Given the description of an element on the screen output the (x, y) to click on. 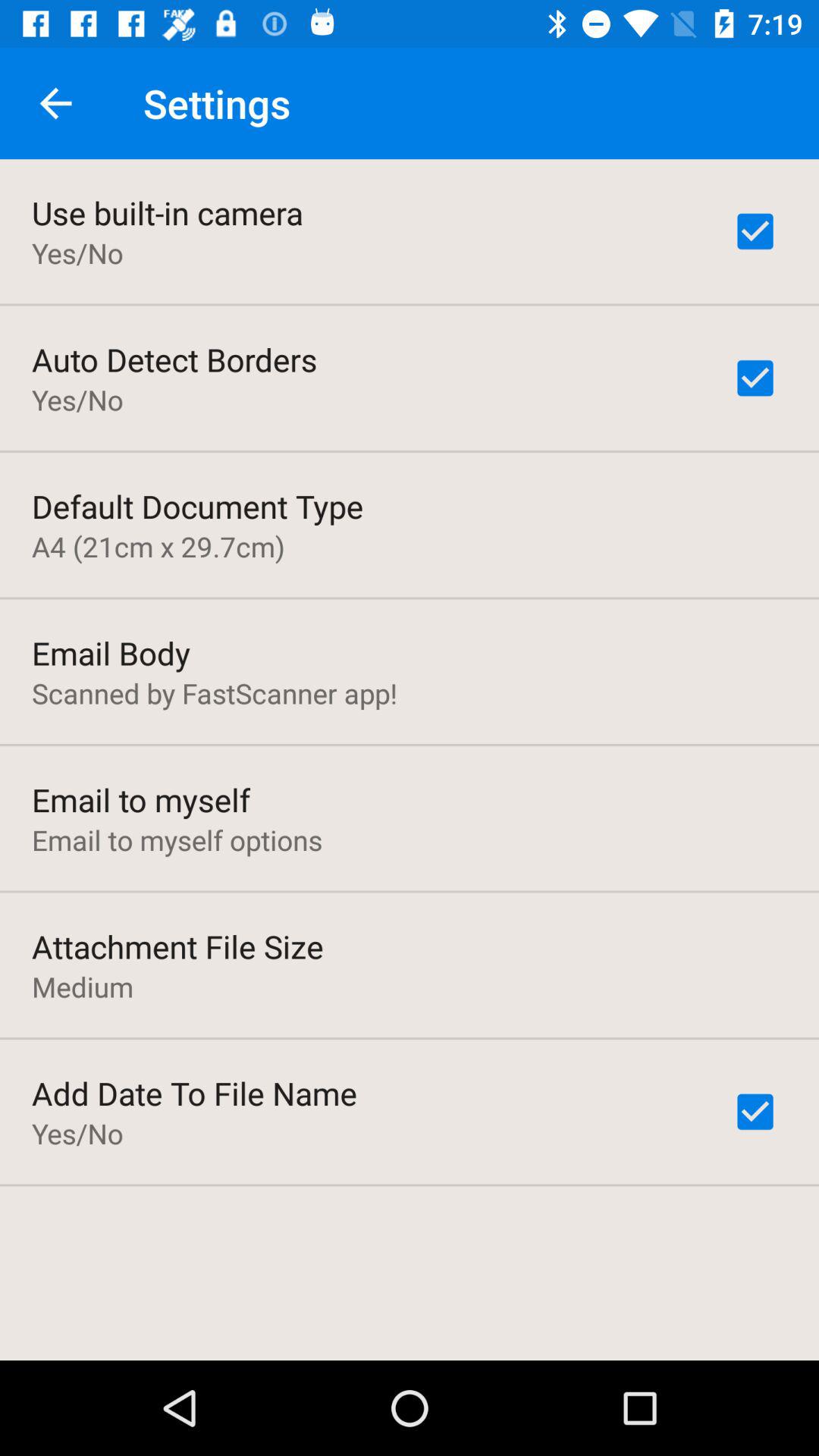
click icon above the email to myself icon (214, 693)
